Given the description of an element on the screen output the (x, y) to click on. 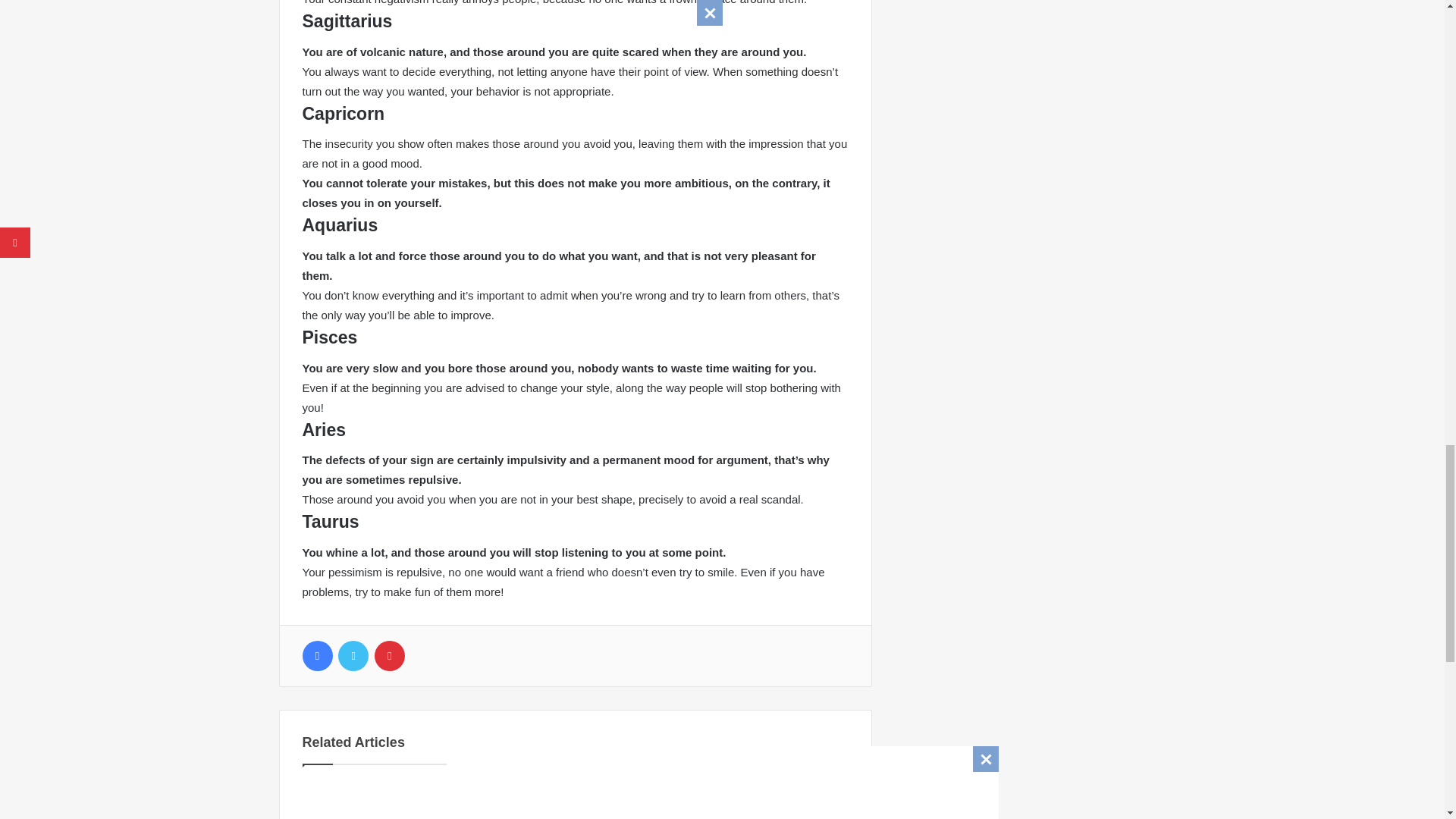
Pinterest (389, 655)
Facebook (316, 655)
Twitter (352, 655)
